Given the description of an element on the screen output the (x, y) to click on. 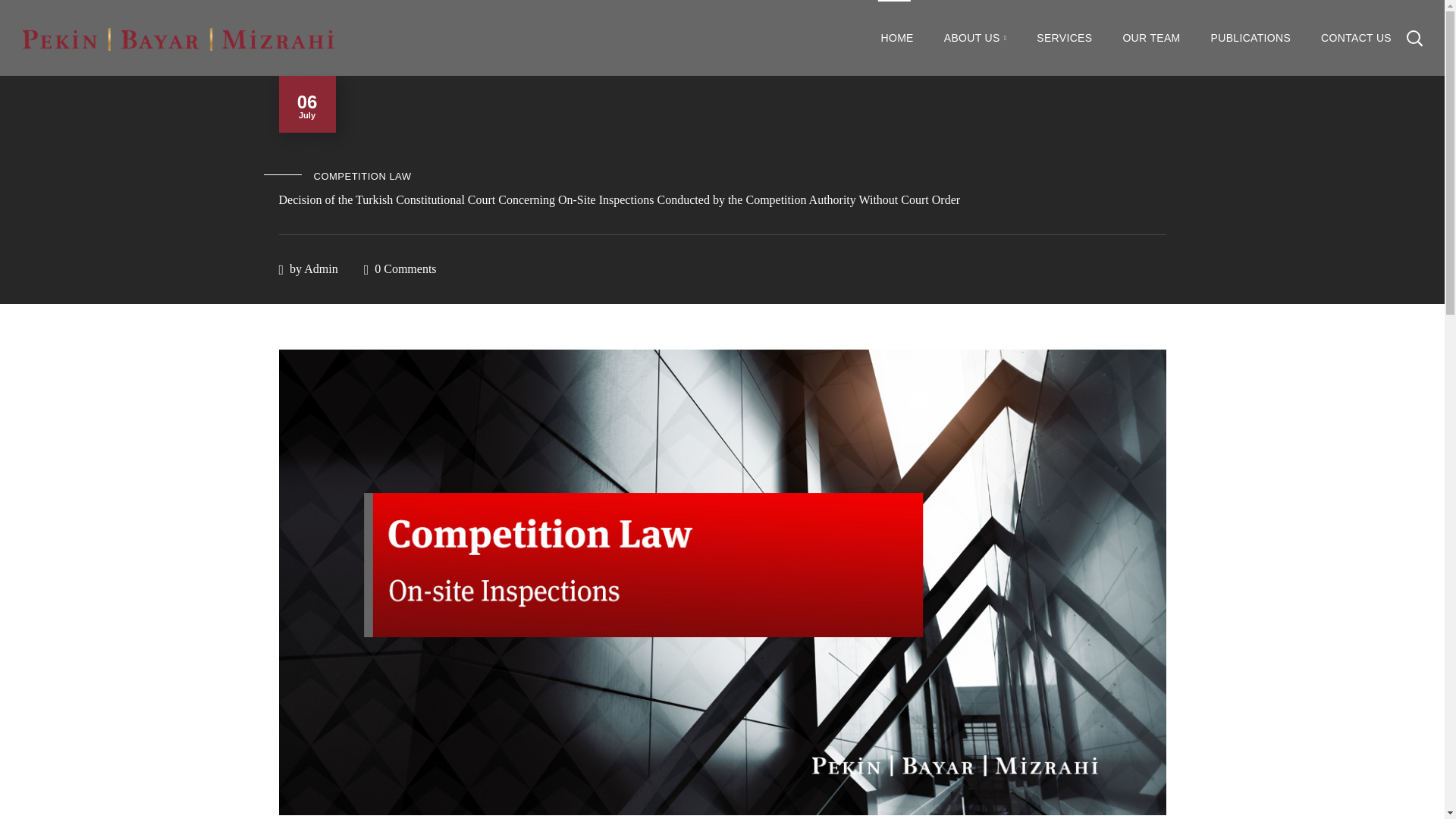
SERVICES (1064, 38)
HOME (897, 38)
PUBLICATIONS (1250, 38)
OUR TEAM (1150, 38)
CONTACT US (1356, 38)
ABOUT US (975, 38)
Search (1374, 113)
